Given the description of an element on the screen output the (x, y) to click on. 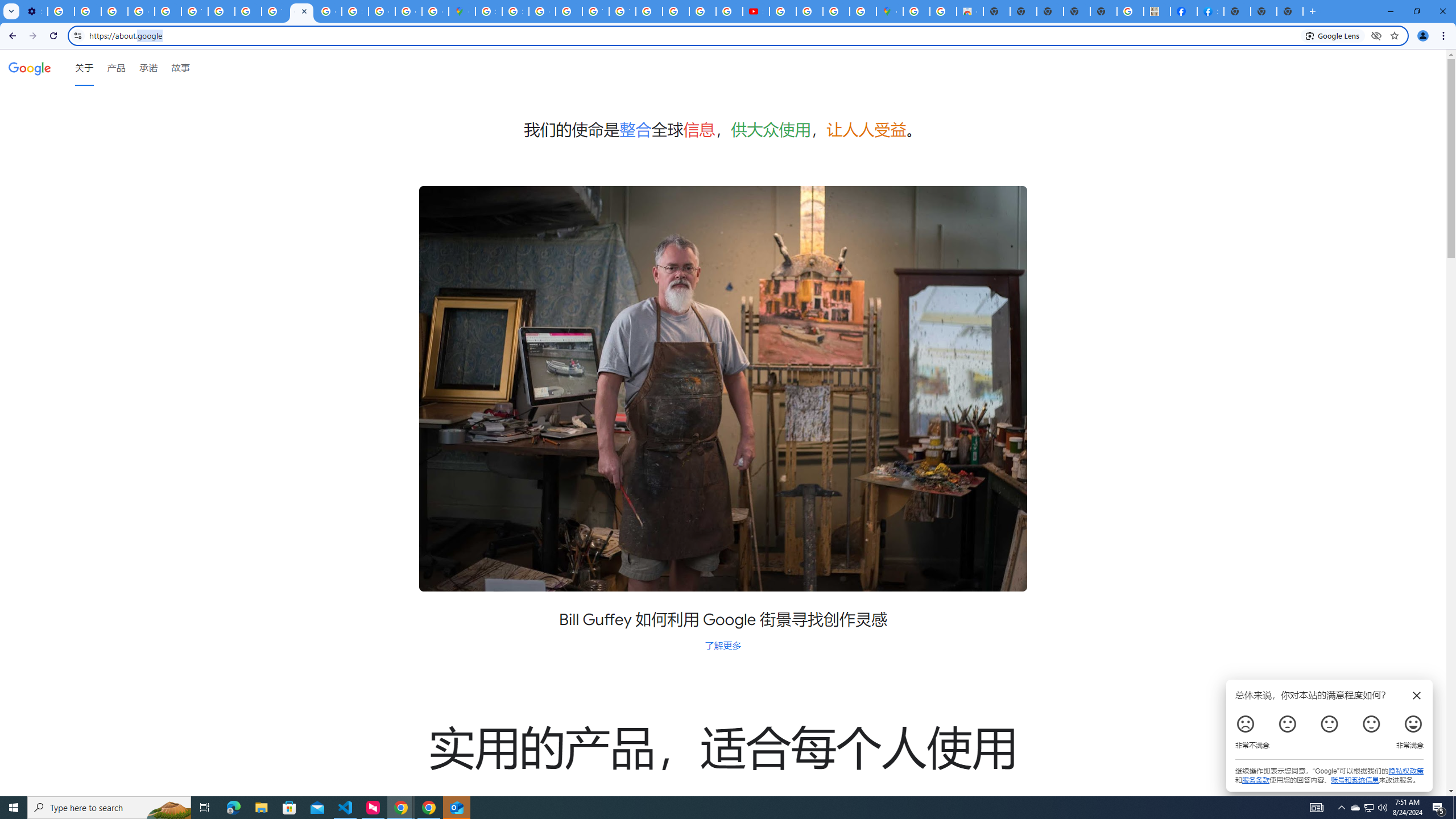
YouTube (194, 11)
Blogger Policies and Guidelines - Transparency Center (649, 11)
Search with Google Lens (1332, 35)
Delete photos & videos - Computer - Google Photos Help (61, 11)
New Tab (1289, 11)
Settings - Customize profile (34, 11)
